Given the description of an element on the screen output the (x, y) to click on. 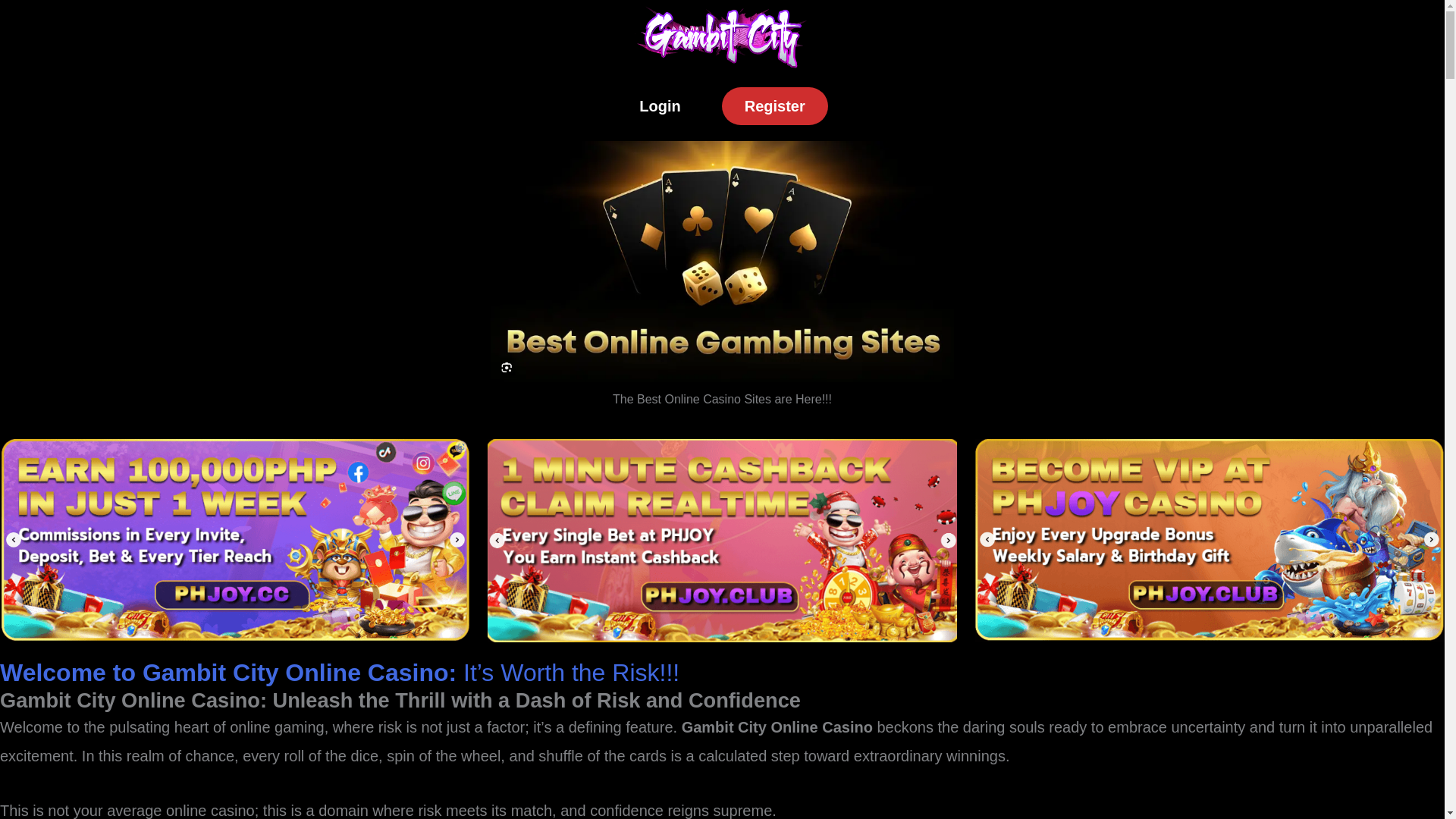
Register (775, 105)
Login (659, 105)
